Given the description of an element on the screen output the (x, y) to click on. 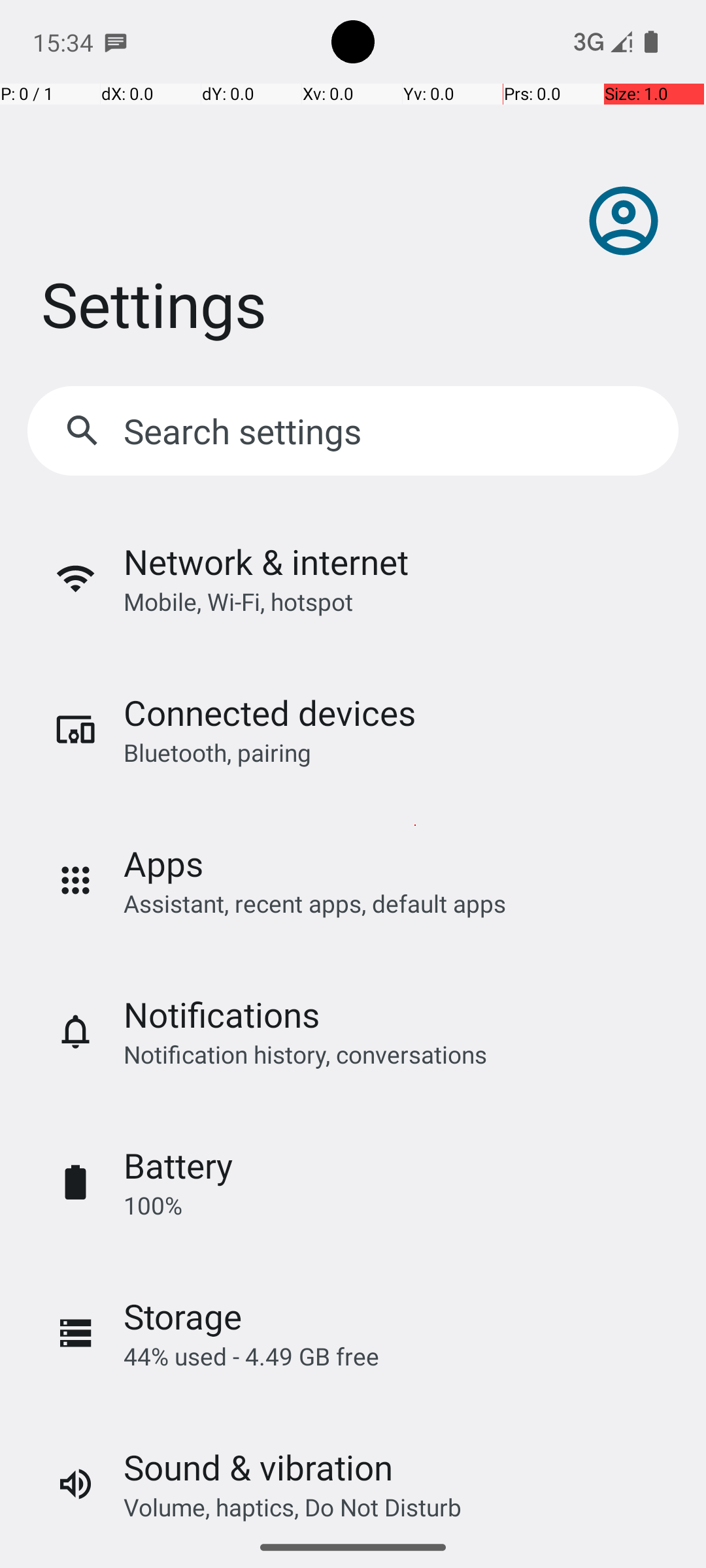
44% used - 4.49 GB free Element type: android.widget.TextView (251, 1355)
